Given the description of an element on the screen output the (x, y) to click on. 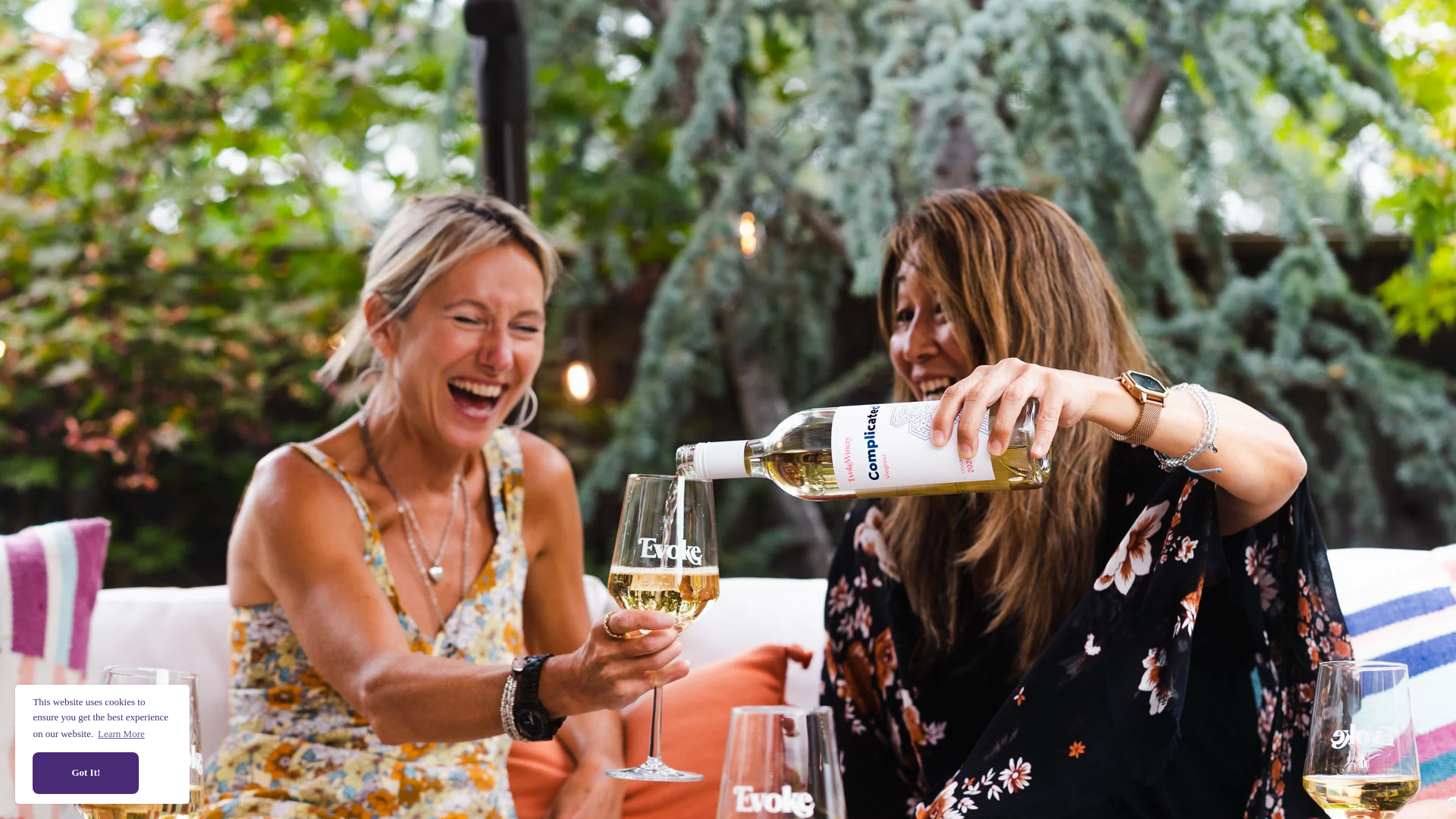
Got It! (85, 772)
Learn More (121, 732)
